Given the description of an element on the screen output the (x, y) to click on. 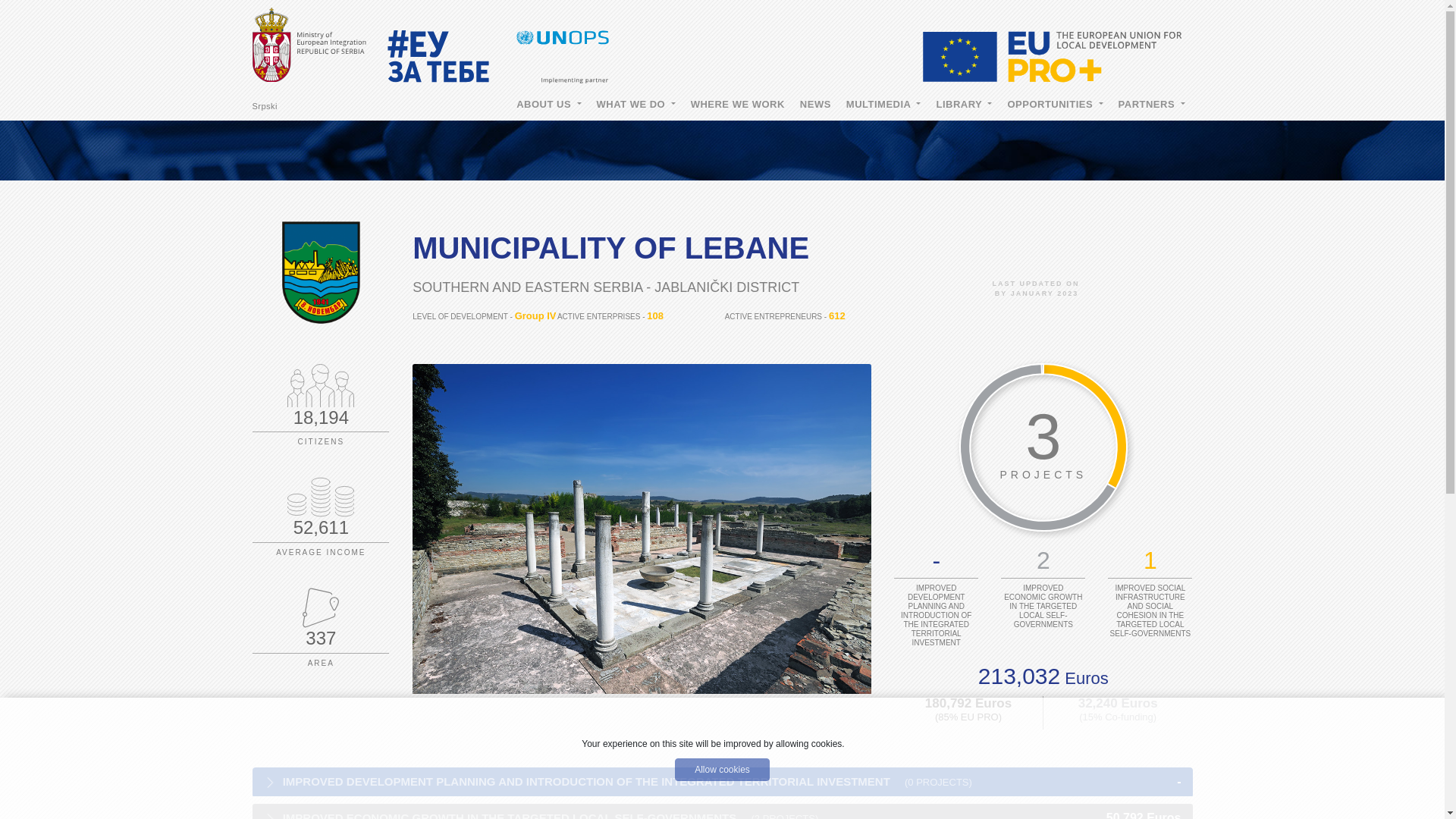
MULTIMEDIA (883, 105)
WHAT WE DO (635, 105)
PARTNERS (1151, 105)
ABOUT US (548, 105)
NEWS (815, 105)
WHERE WE WORK (737, 105)
LIBRARY (963, 105)
OPPORTUNITIES (1053, 105)
Srpski (264, 105)
